Given the description of an element on the screen output the (x, y) to click on. 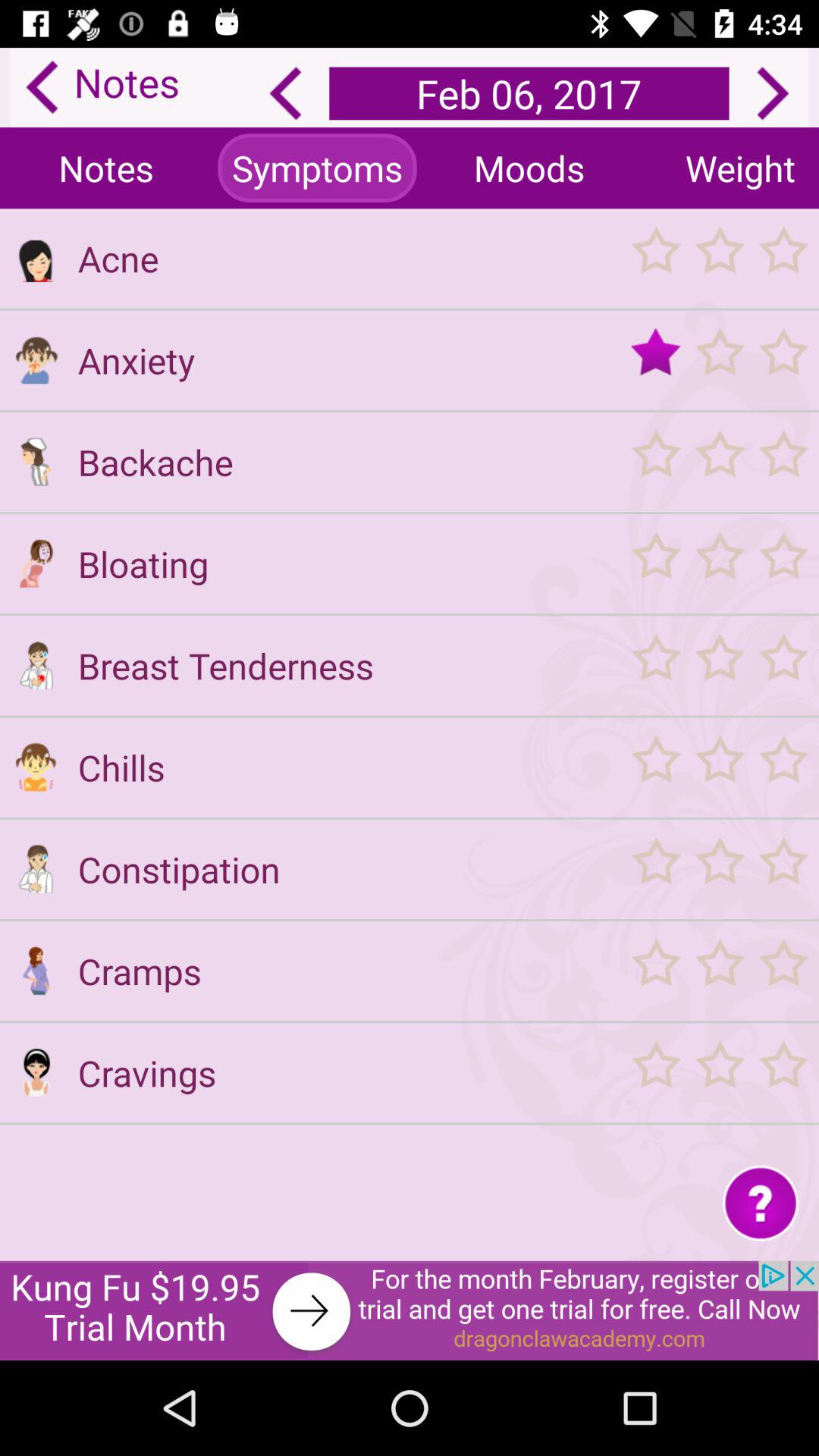
enter a rating (719, 767)
